Given the description of an element on the screen output the (x, y) to click on. 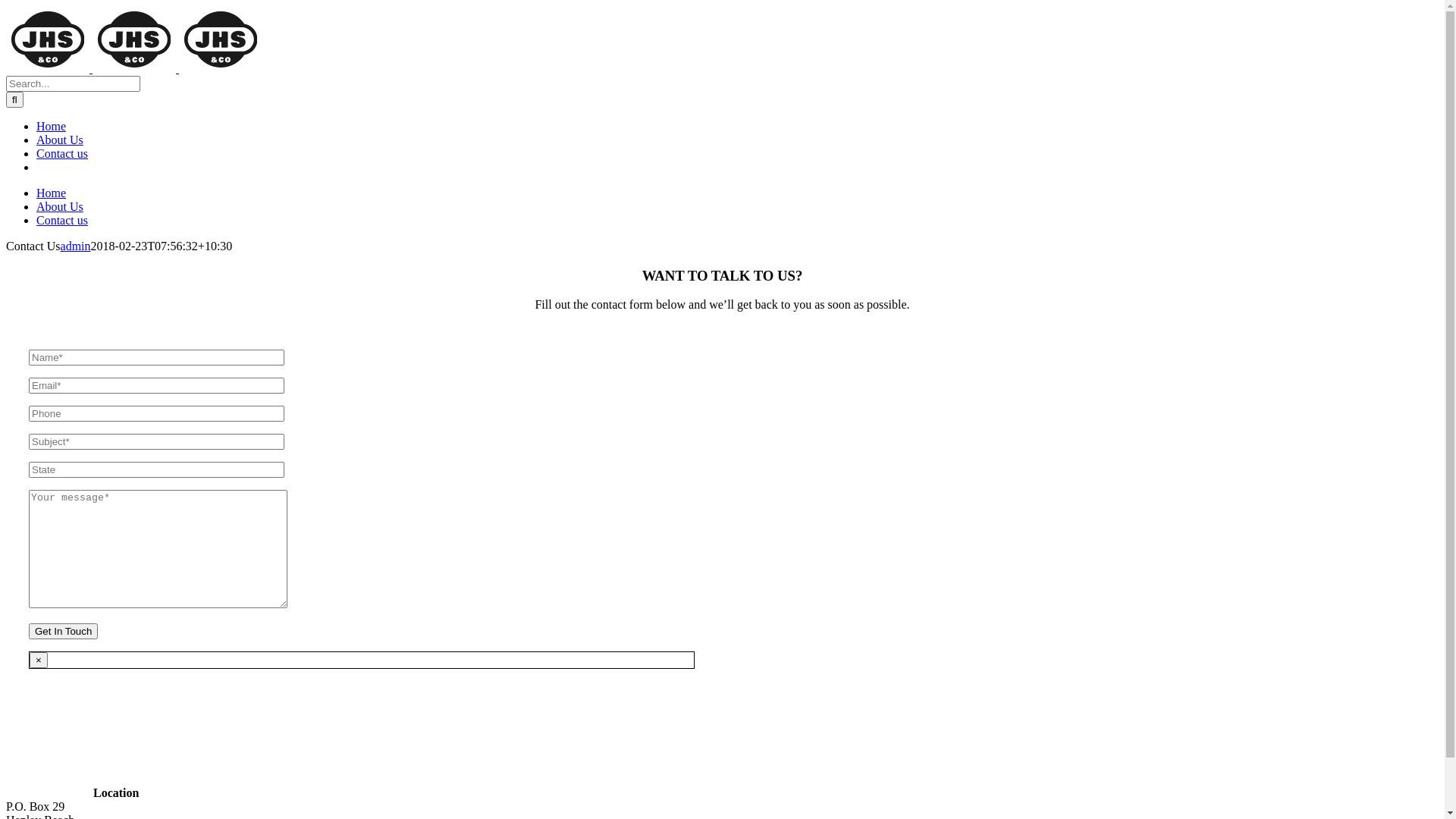
About Us Element type: text (59, 139)
Skip to content Element type: text (5, 5)
Contact us Element type: text (61, 219)
Get In Touch Element type: text (62, 631)
Home Element type: text (50, 192)
About Us Element type: text (59, 206)
Contact us Element type: text (61, 153)
admin Element type: text (75, 245)
Home Element type: text (50, 125)
